Given the description of an element on the screen output the (x, y) to click on. 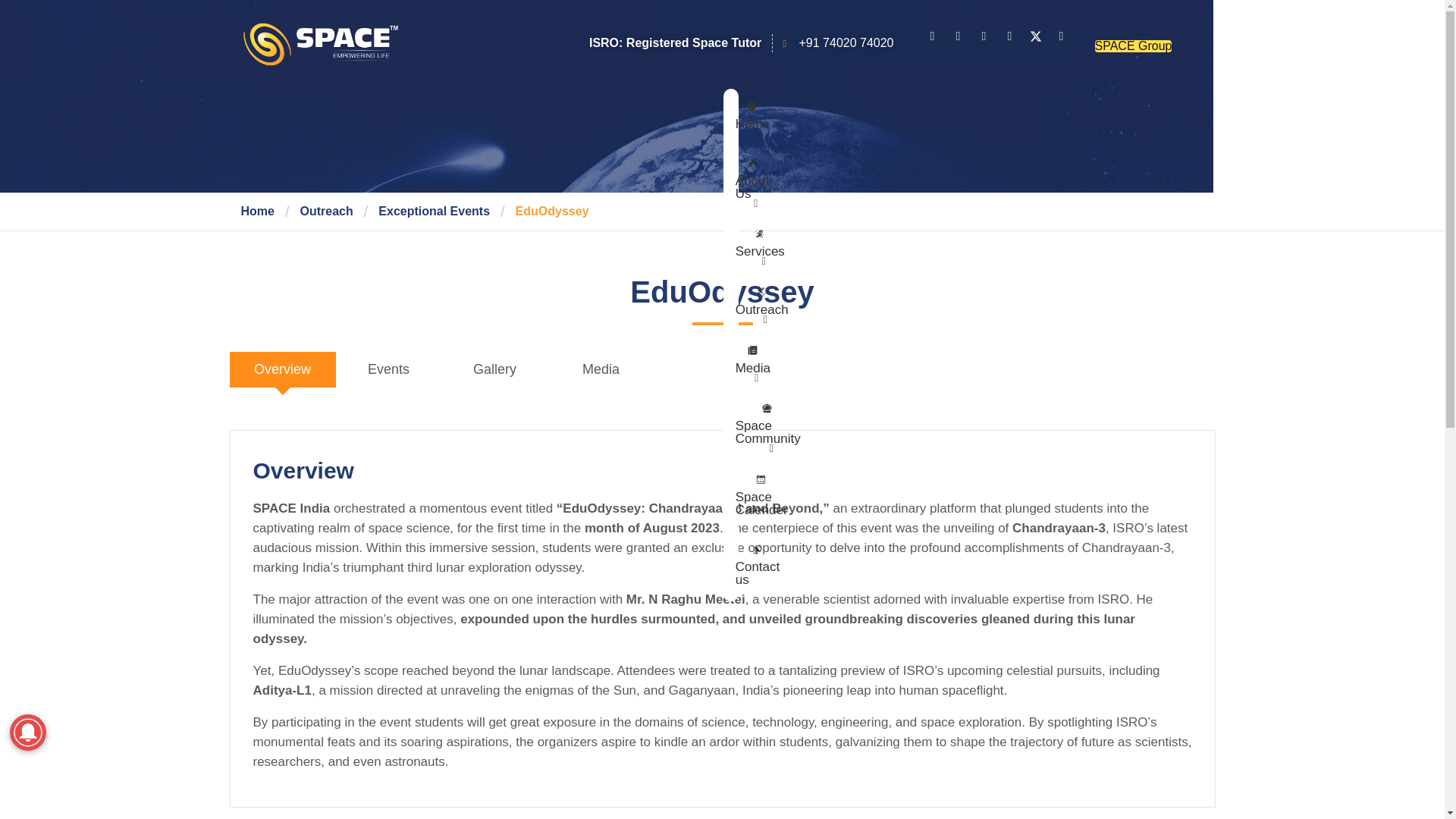
EduOdyssey (552, 210)
Services (759, 246)
Outreach (761, 303)
Exceptional Events (433, 210)
Outreach (326, 210)
SPACE Group (1133, 46)
Home (258, 210)
Home (752, 116)
ISRO: Registered Space Tutor (675, 43)
